Given the description of an element on the screen output the (x, y) to click on. 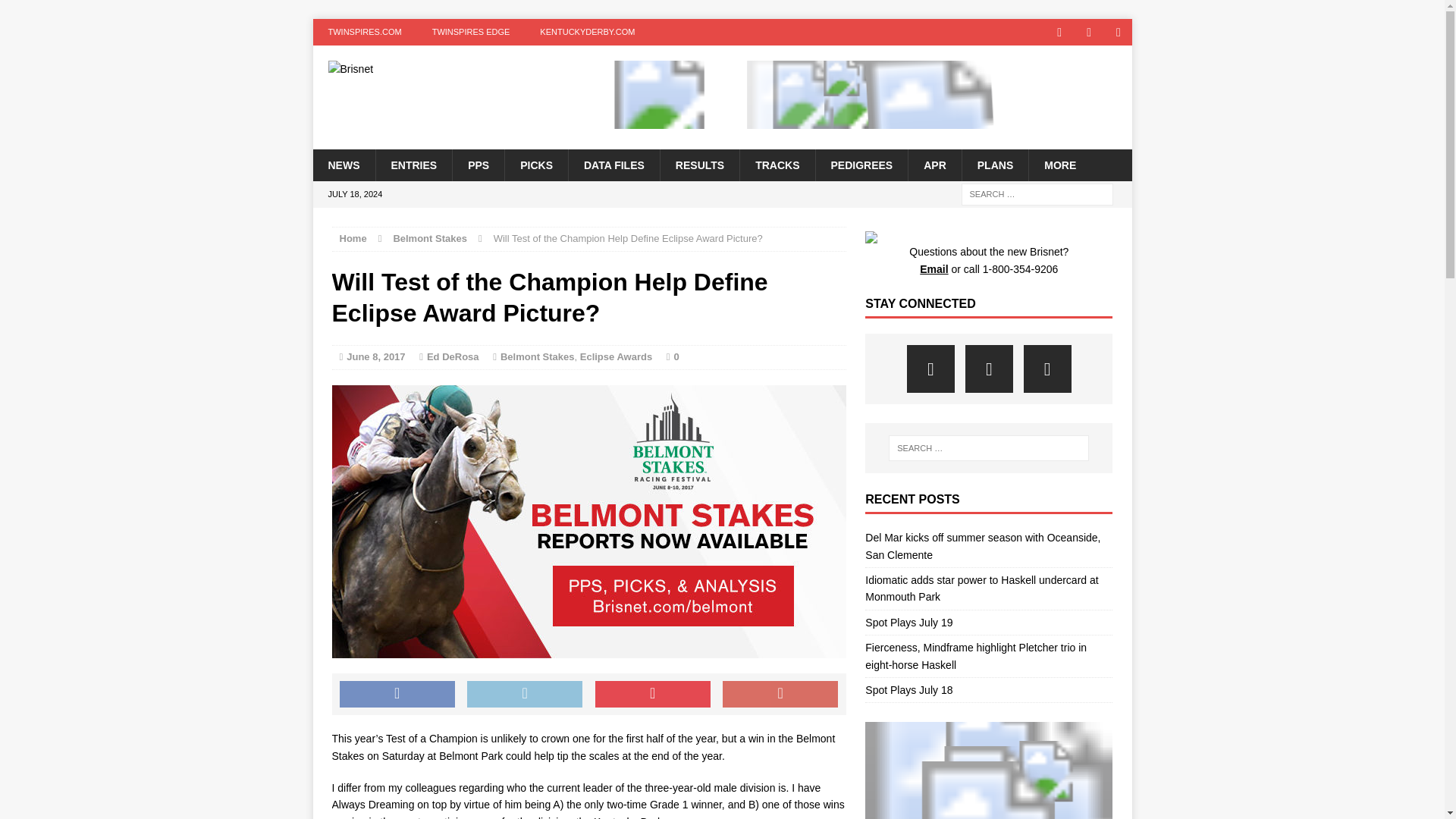
KENTUCKYDERBY.COM (586, 31)
DATA FILES (613, 164)
RESULTS (699, 164)
TWINSPIRES.COM (364, 31)
PPS (477, 164)
Share on Facebook (396, 694)
Brisnet (442, 68)
MORE (1058, 164)
APR (933, 164)
PLANS (993, 164)
ENTRIES (412, 164)
PEDIGREES (860, 164)
0 (676, 356)
Pin This Post (652, 694)
NEWS (343, 164)
